Given the description of an element on the screen output the (x, y) to click on. 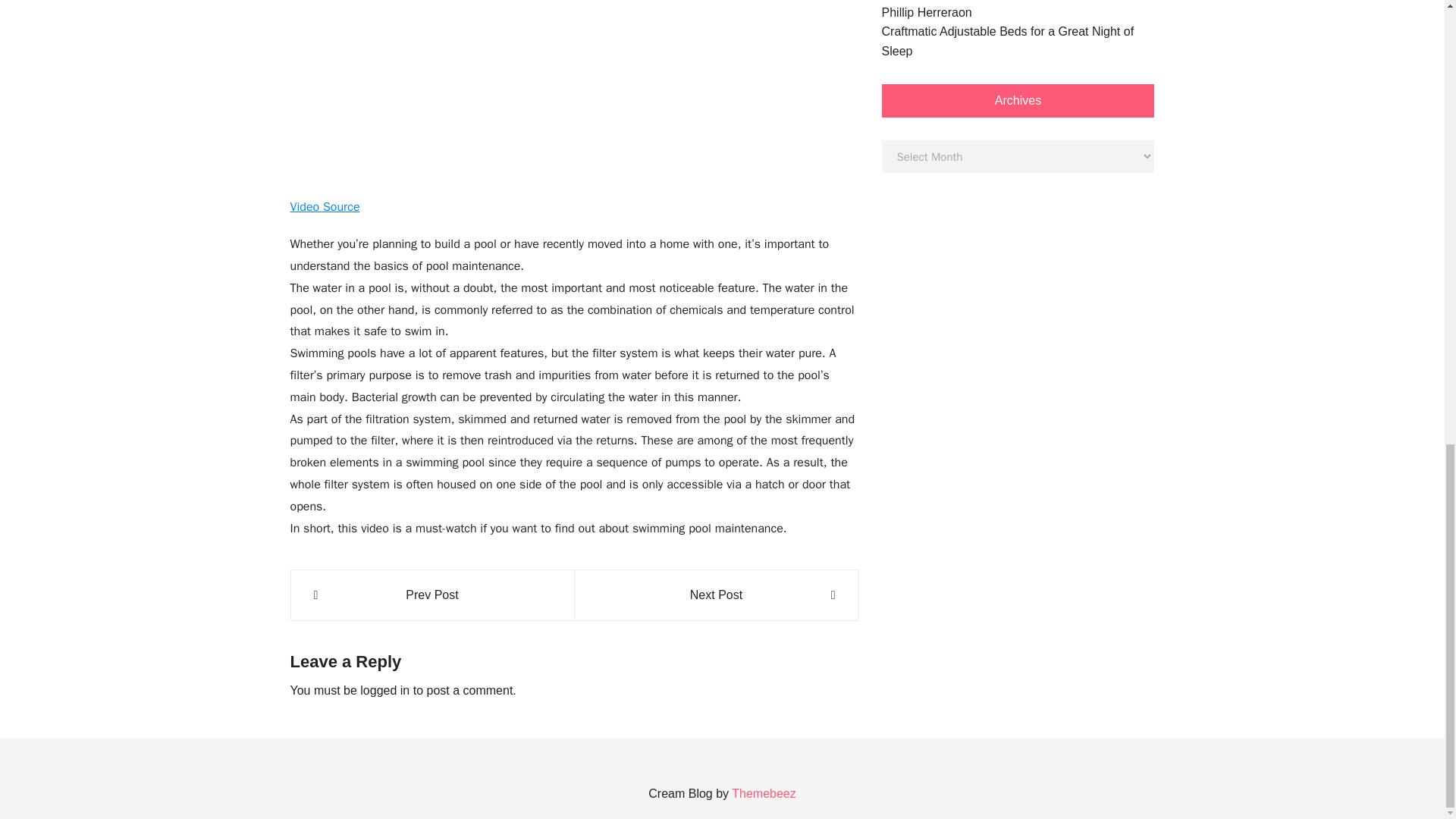
Craftmatic Adjustable Beds for a Great Night of Sleep (1017, 41)
logged in (384, 689)
Phillip Herrera (919, 11)
Prev Post (432, 595)
Themebeez (764, 793)
Video Source (324, 206)
Next Post (715, 595)
